Given the description of an element on the screen output the (x, y) to click on. 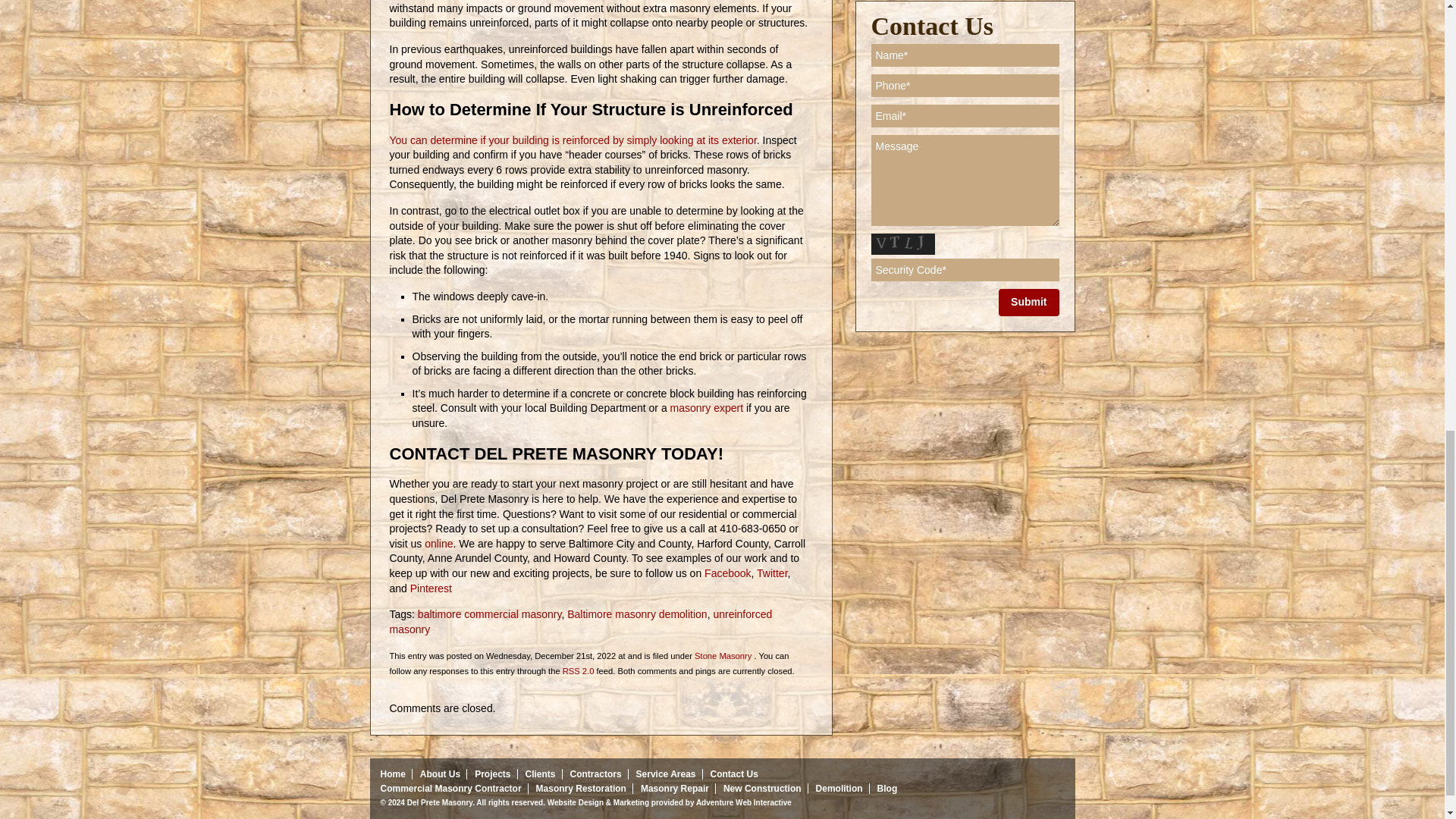
masonry expert (705, 408)
 Pinterest (429, 588)
Stone Masonry (722, 655)
unreinforced masonry (581, 621)
Submit (1028, 302)
 Facebook (726, 573)
baltimore commercial masonry (489, 613)
Submit (1028, 302)
 Twitter (770, 573)
Baltimore masonry demolition (636, 613)
RSS 2.0 (578, 670)
 online (437, 543)
